Given the description of an element on the screen output the (x, y) to click on. 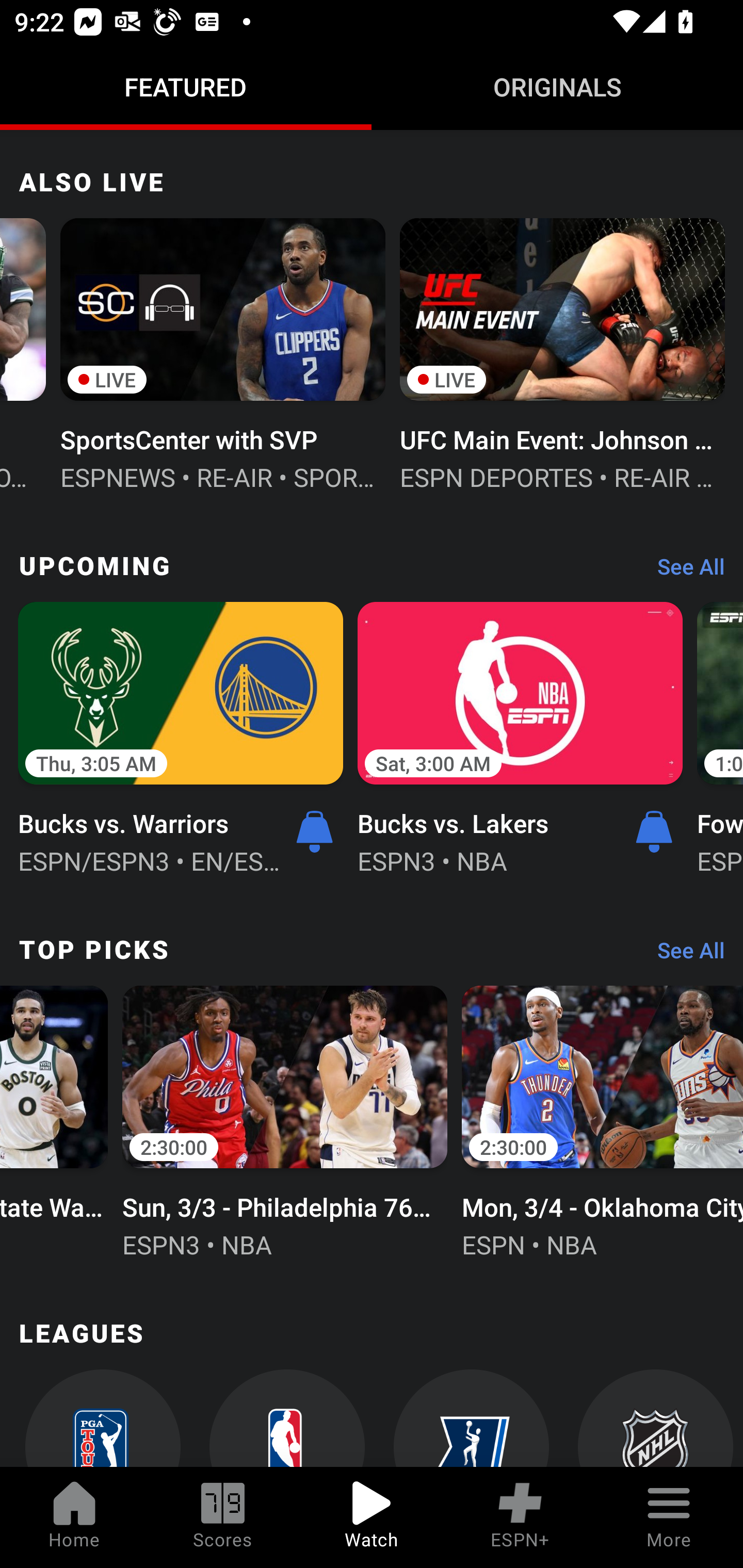
Originals ORIGINALS (557, 86)
See All (683, 571)
See All (683, 954)
Home (74, 1517)
Scores (222, 1517)
ESPN+ (519, 1517)
More (668, 1517)
